Given the description of an element on the screen output the (x, y) to click on. 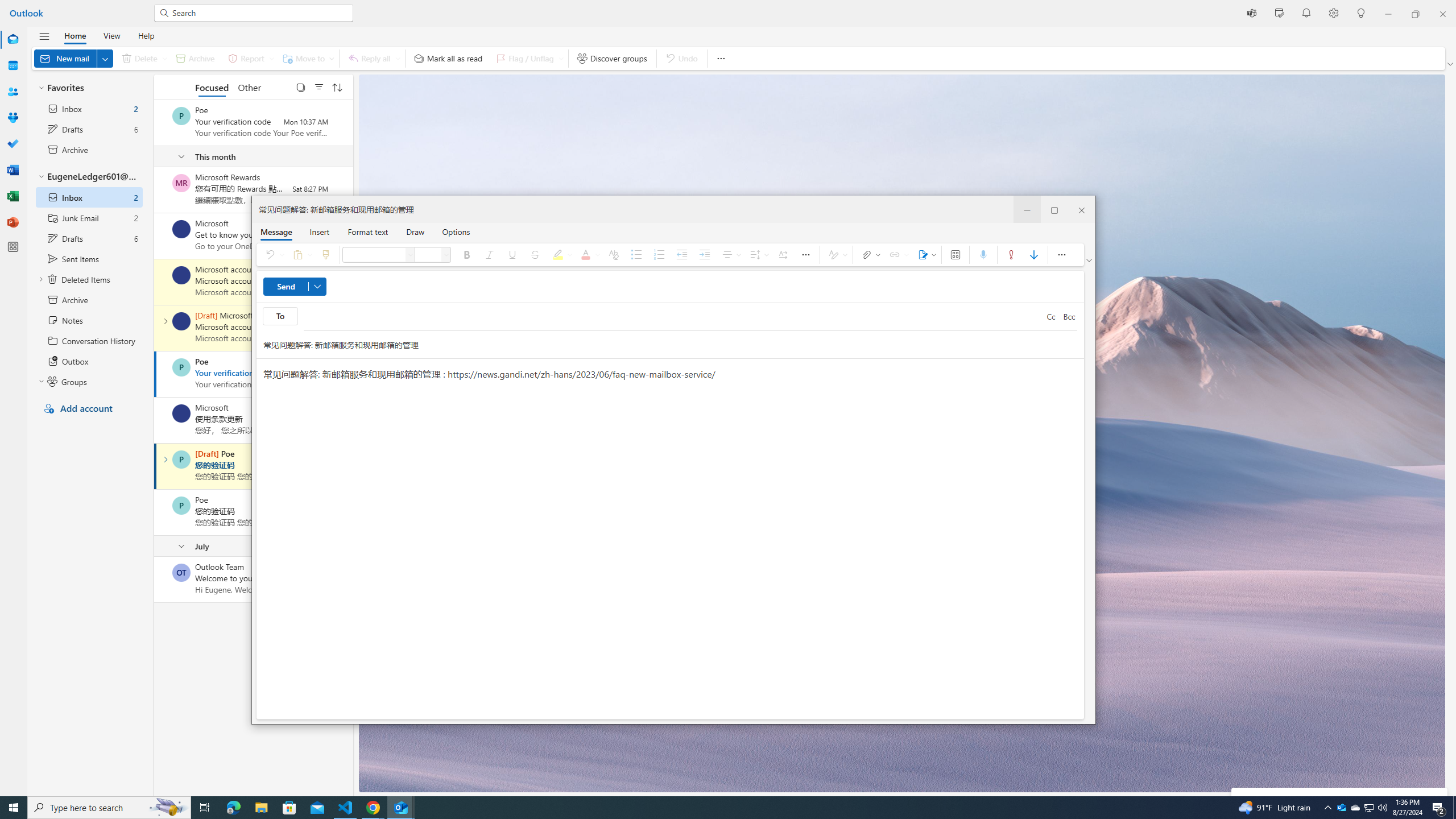
Link (897, 254)
Format painter (325, 254)
To (673, 316)
Font (410, 254)
Add a subject (659, 344)
Message (276, 231)
Options (456, 231)
Increase indent (704, 254)
Mail (12, 39)
Draw (415, 231)
Excel (12, 196)
Select (300, 86)
Bullets (635, 254)
View (111, 35)
